Given the description of an element on the screen output the (x, y) to click on. 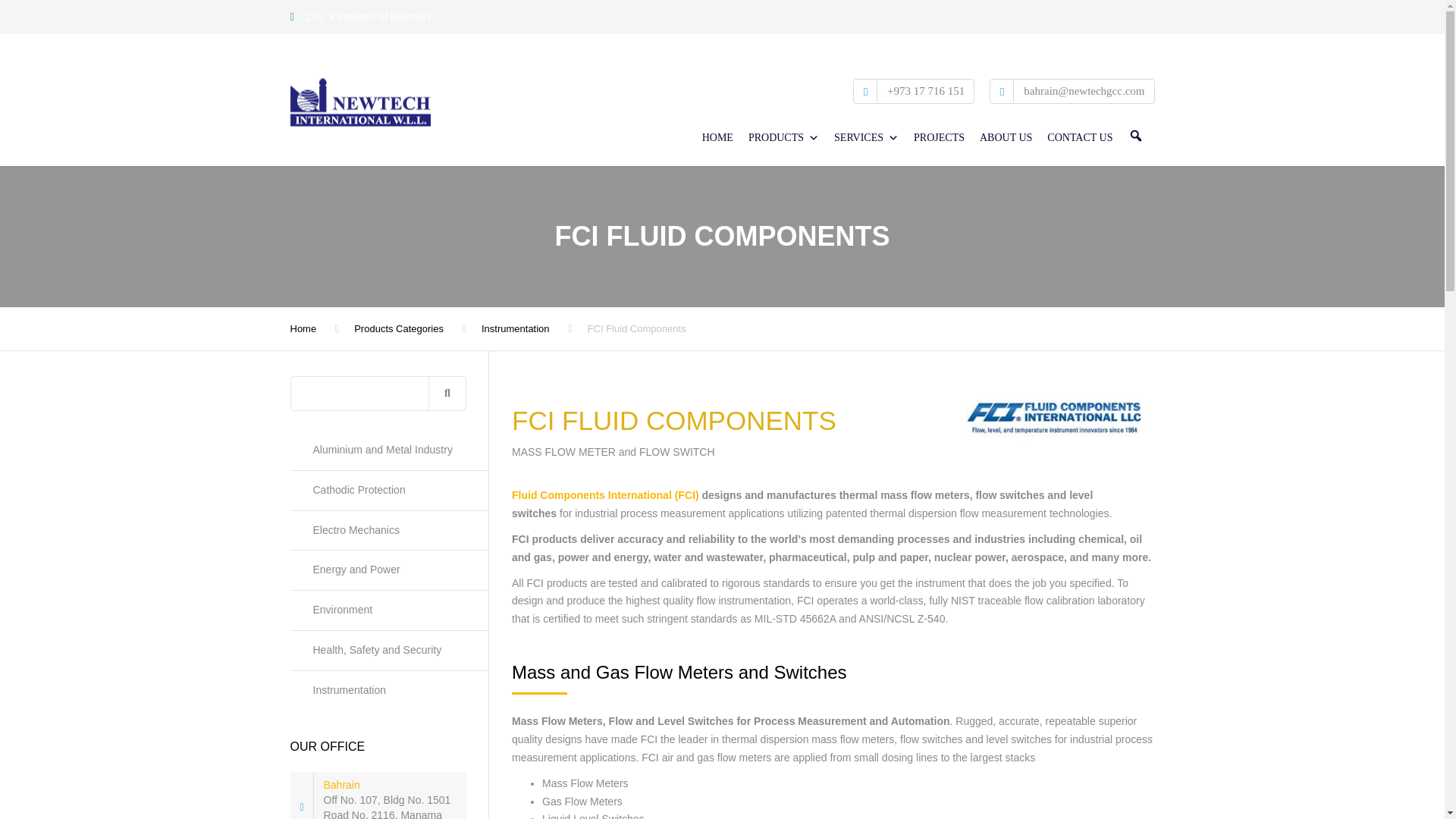
Search (446, 393)
PRODUCTS (783, 134)
FCI Fluid Components International (1054, 417)
